Given the description of an element on the screen output the (x, y) to click on. 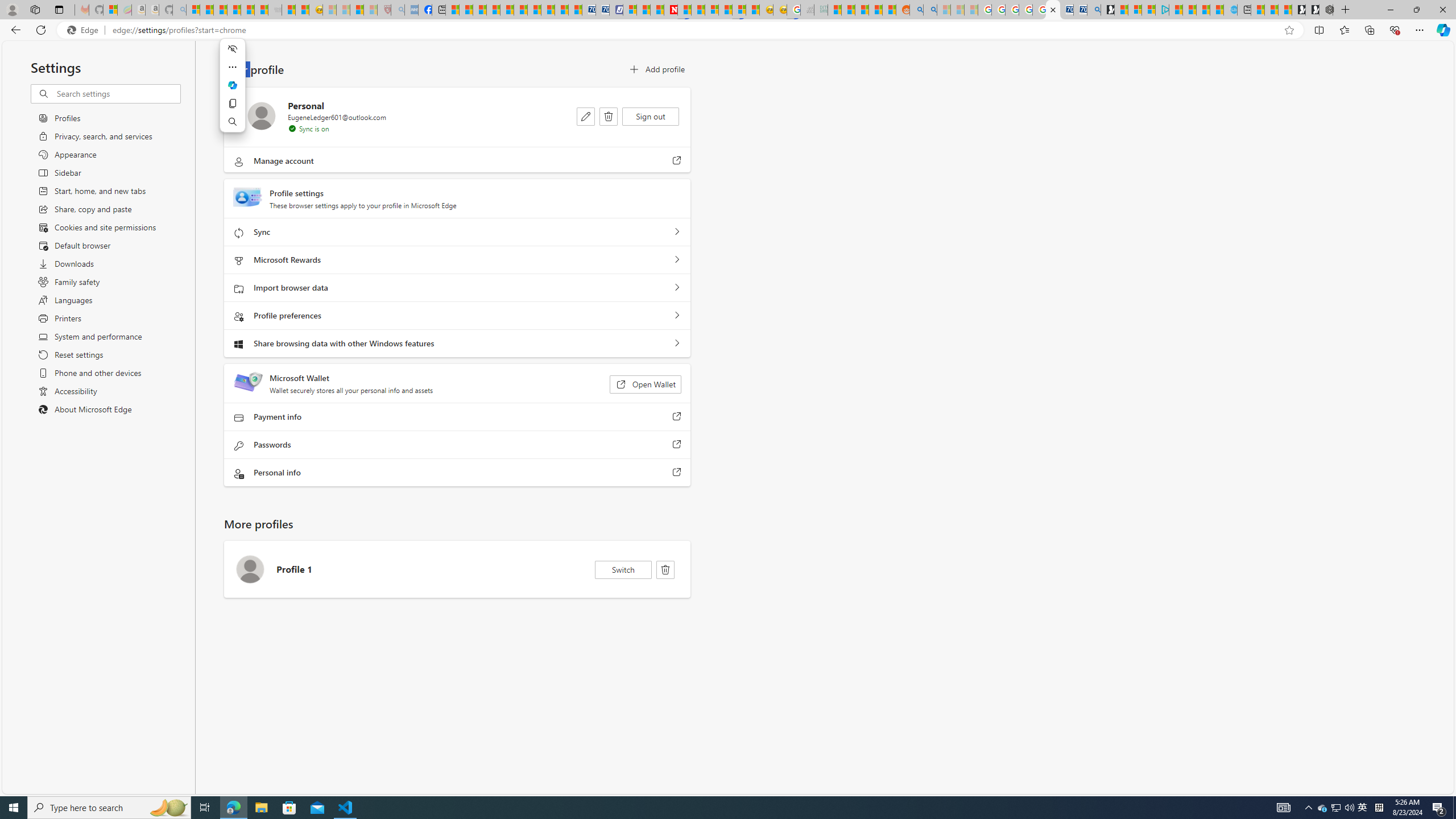
Payment info (676, 417)
Ask Copilot (231, 85)
Edit (585, 116)
Microsoft Rewards (676, 259)
Student Loan Update: Forgiveness Program Ends This Month (874, 9)
MSNBC - MSN (833, 9)
Sign out (650, 116)
Climate Damage Becomes Too Severe To Reverse (493, 9)
Recipes - MSN - Sleeping (328, 9)
